Given the description of an element on the screen output the (x, y) to click on. 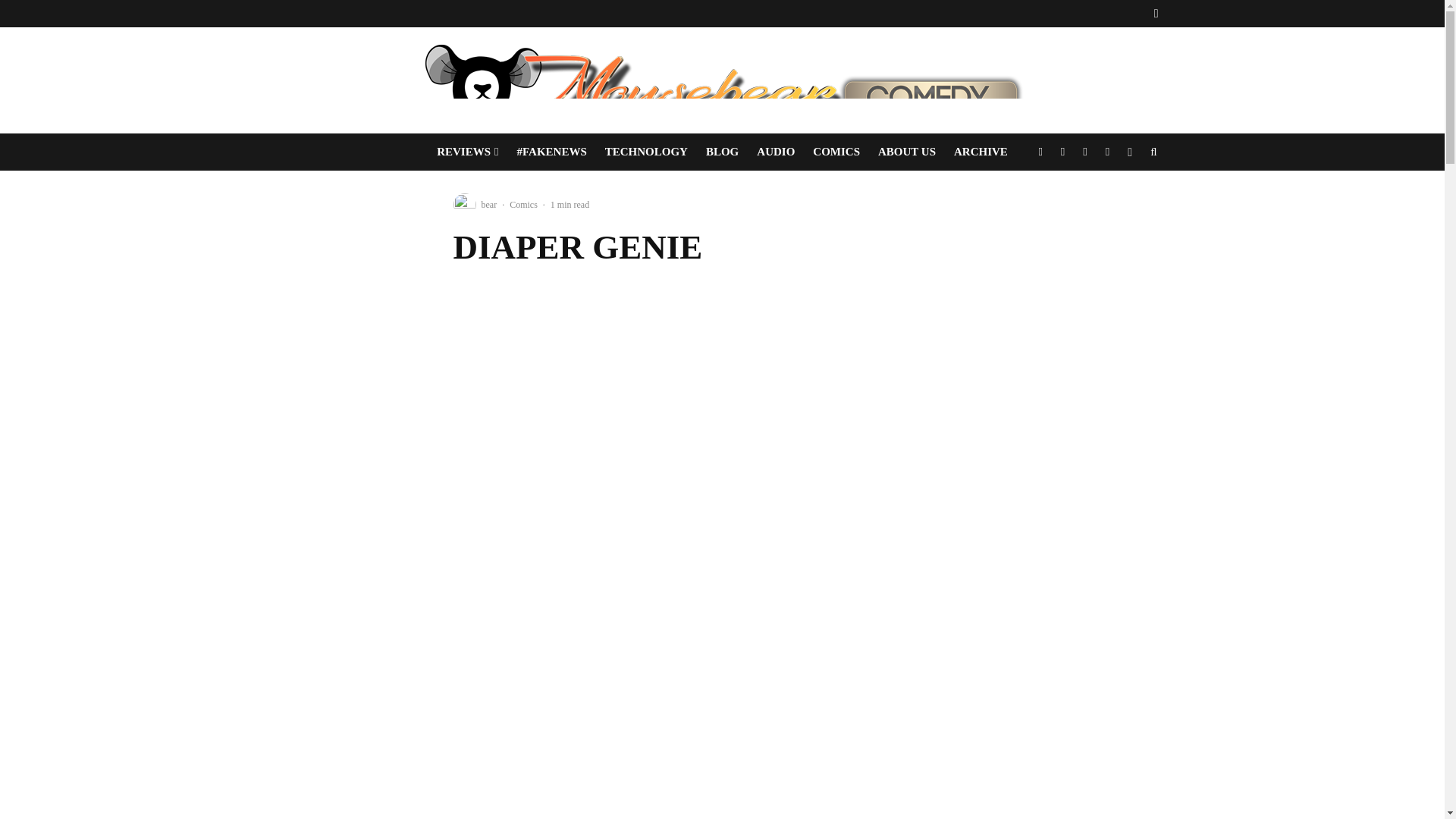
BLOG (722, 151)
AUDIO (775, 151)
REVIEWS (467, 151)
COMICS (836, 151)
TECHNOLOGY (646, 151)
ARCHIVE (980, 151)
ABOUT US (906, 151)
